Given the description of an element on the screen output the (x, y) to click on. 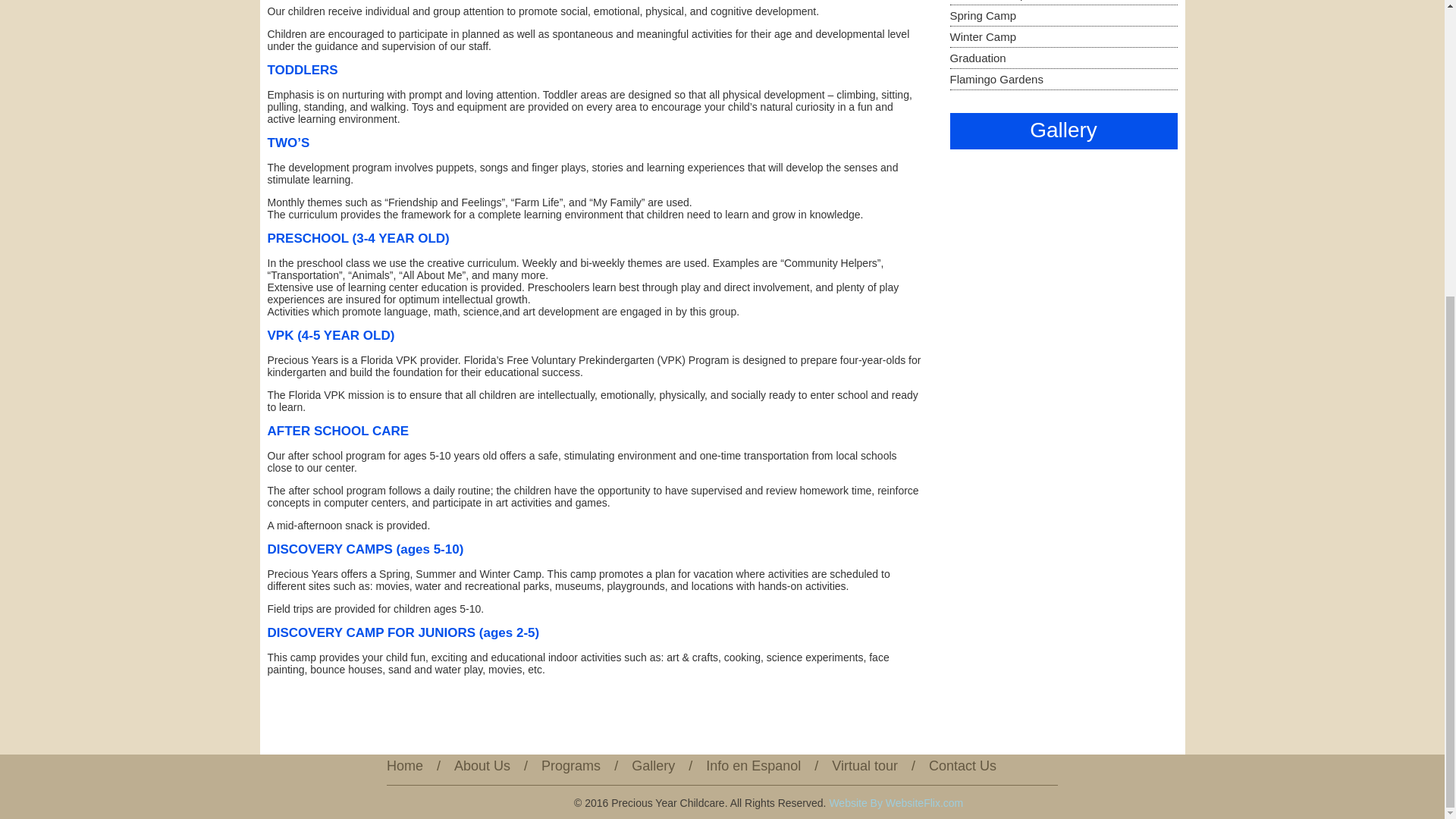
About Us (482, 765)
Info en Espanol (753, 765)
Contact Us (961, 765)
Website By WebsiteFlix.com (895, 802)
Flamingo Gardens (995, 78)
Home (405, 765)
Gallery (653, 765)
Programs (570, 765)
Spring Camp (982, 15)
Graduation (977, 57)
